Given the description of an element on the screen output the (x, y) to click on. 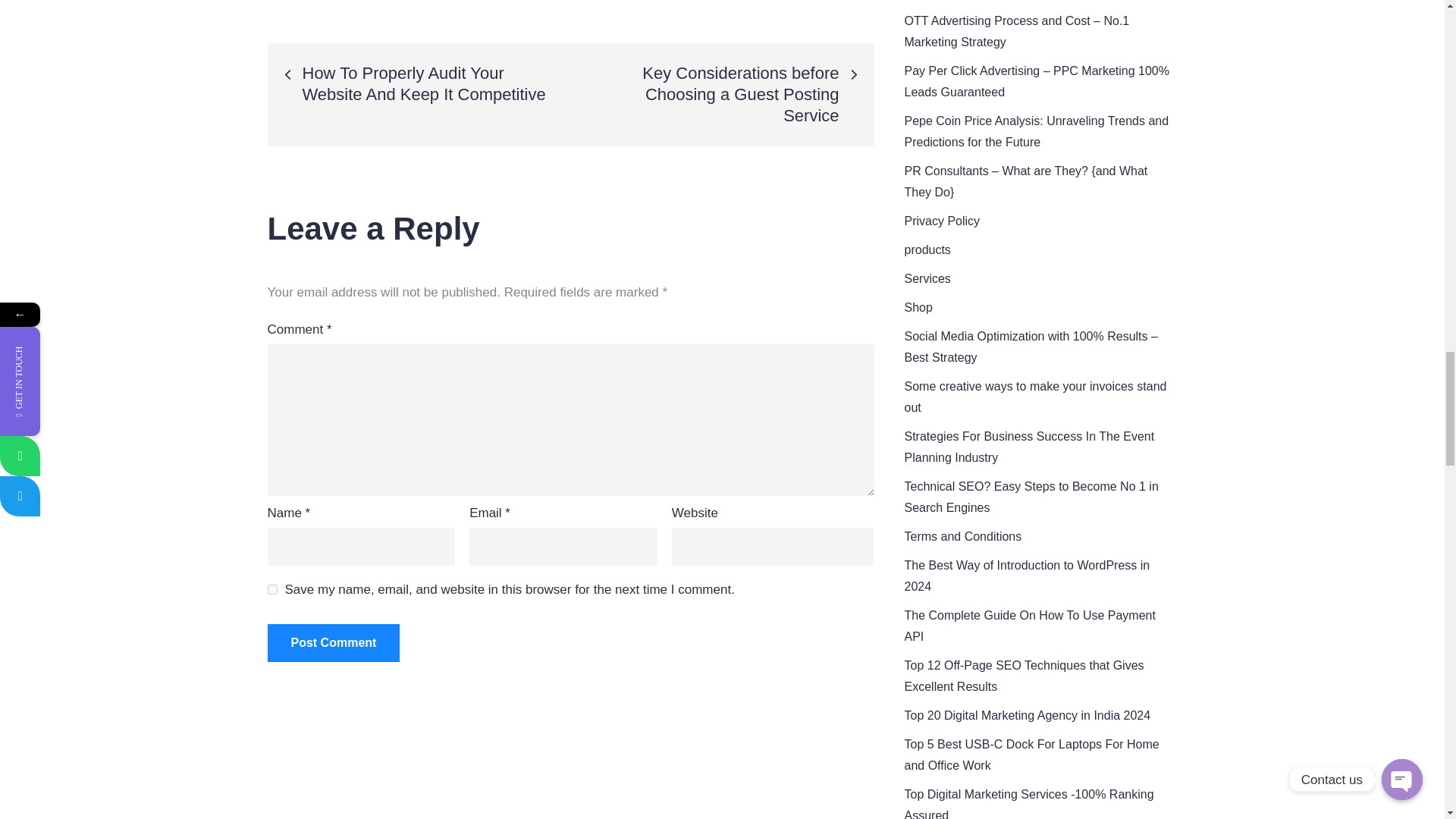
Post Comment (332, 642)
yes (271, 589)
